Given the description of an element on the screen output the (x, y) to click on. 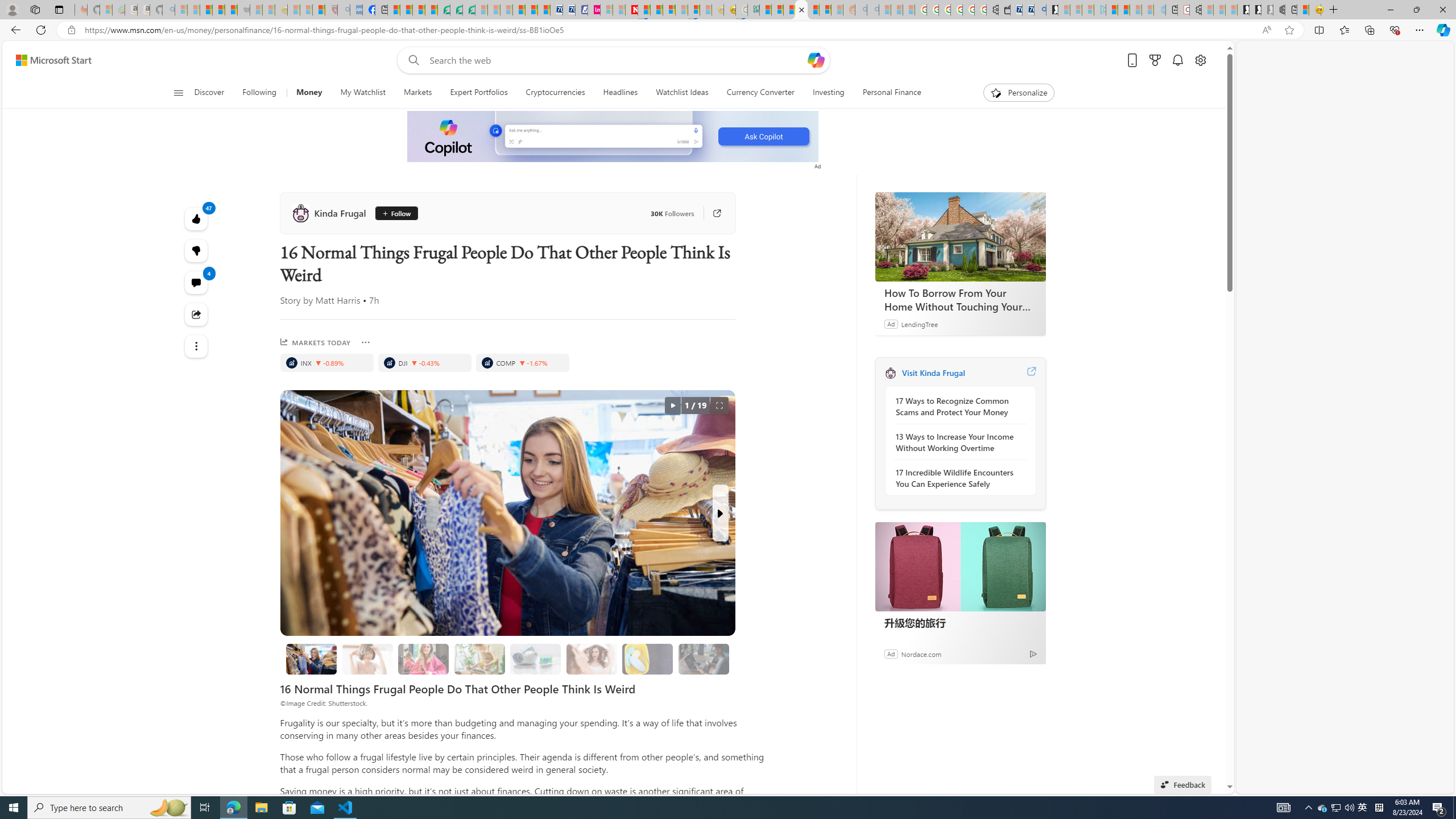
Enter your search term (617, 59)
Local - MSN (318, 9)
17 Ways to Recognize Common Scams and Protect Your Money (957, 406)
More Options (365, 342)
Personal Finance (891, 92)
1. Cutting Hair (367, 658)
47 Like (196, 218)
